Given the description of an element on the screen output the (x, y) to click on. 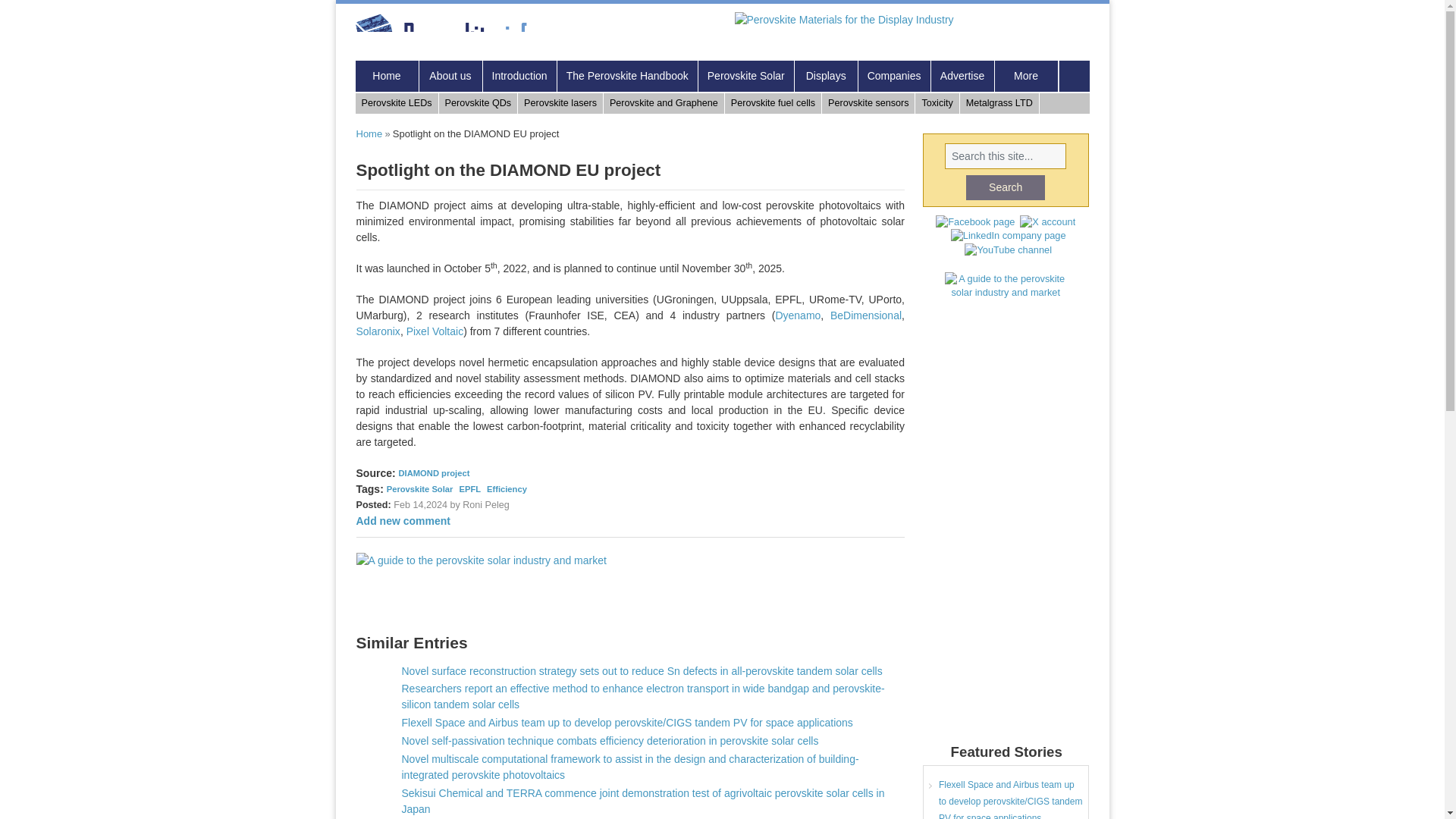
EPFL (470, 488)
Companies (895, 75)
Add new comment (402, 521)
DIAMOND project (434, 472)
Enter the terms you wish to search for. (1004, 155)
Home (451, 34)
Dyenamo (797, 315)
